Given the description of an element on the screen output the (x, y) to click on. 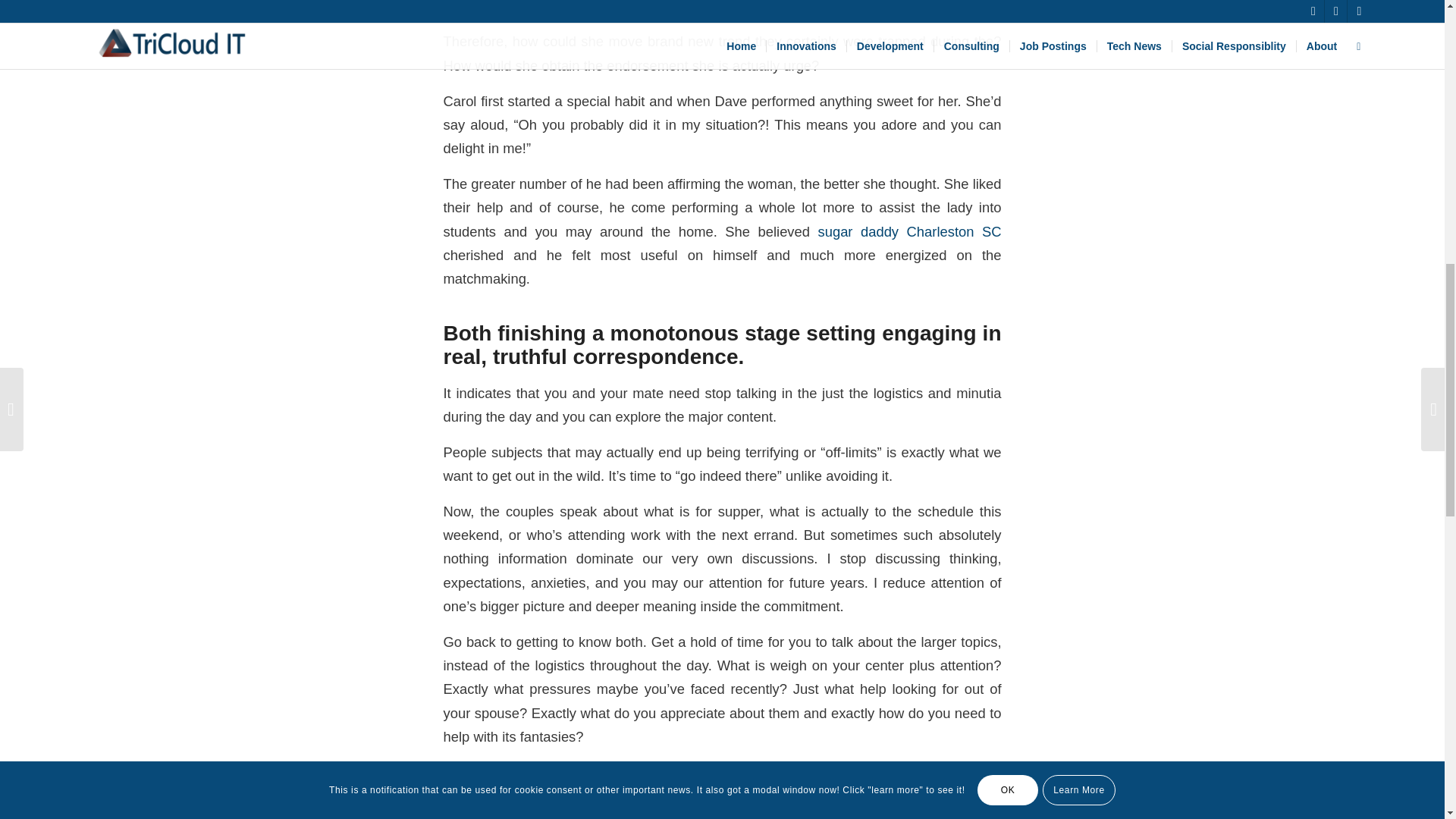
sugar daddy Charleston SC (908, 230)
